Given the description of an element on the screen output the (x, y) to click on. 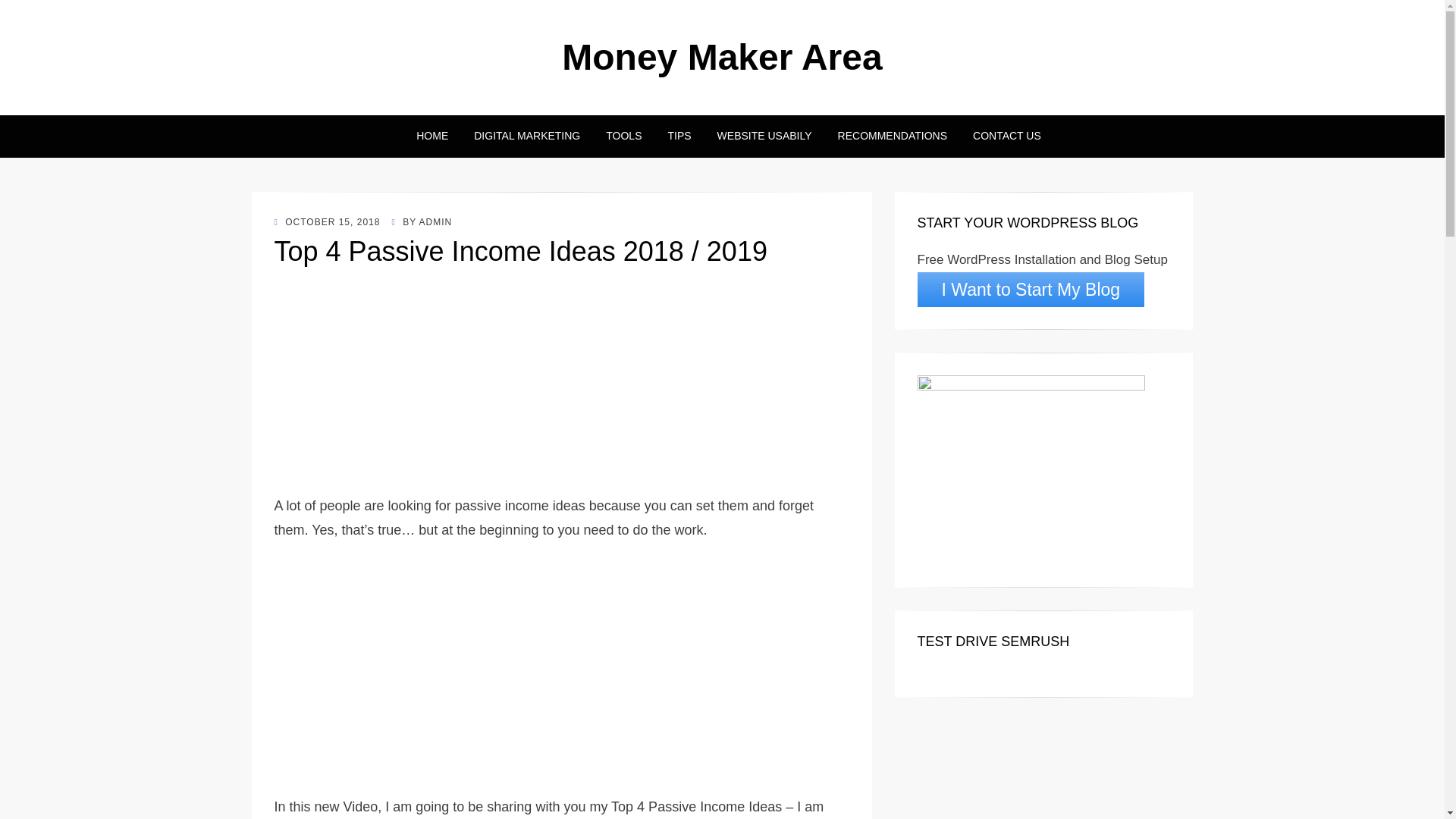
DIGITAL MARKETING (526, 135)
TIPS (678, 135)
Money Maker Area (722, 56)
CONTACT US (1000, 135)
Advertisement (561, 387)
RECOMMENDATIONS (892, 135)
HOME (432, 135)
OCTOBER 15, 2018 (327, 222)
I Want to Start My Blog (1030, 289)
ADMIN (435, 222)
Advertisement (560, 673)
WEBSITE USABILY (764, 135)
TOOLS (622, 135)
Money Maker Area (722, 56)
